Given the description of an element on the screen output the (x, y) to click on. 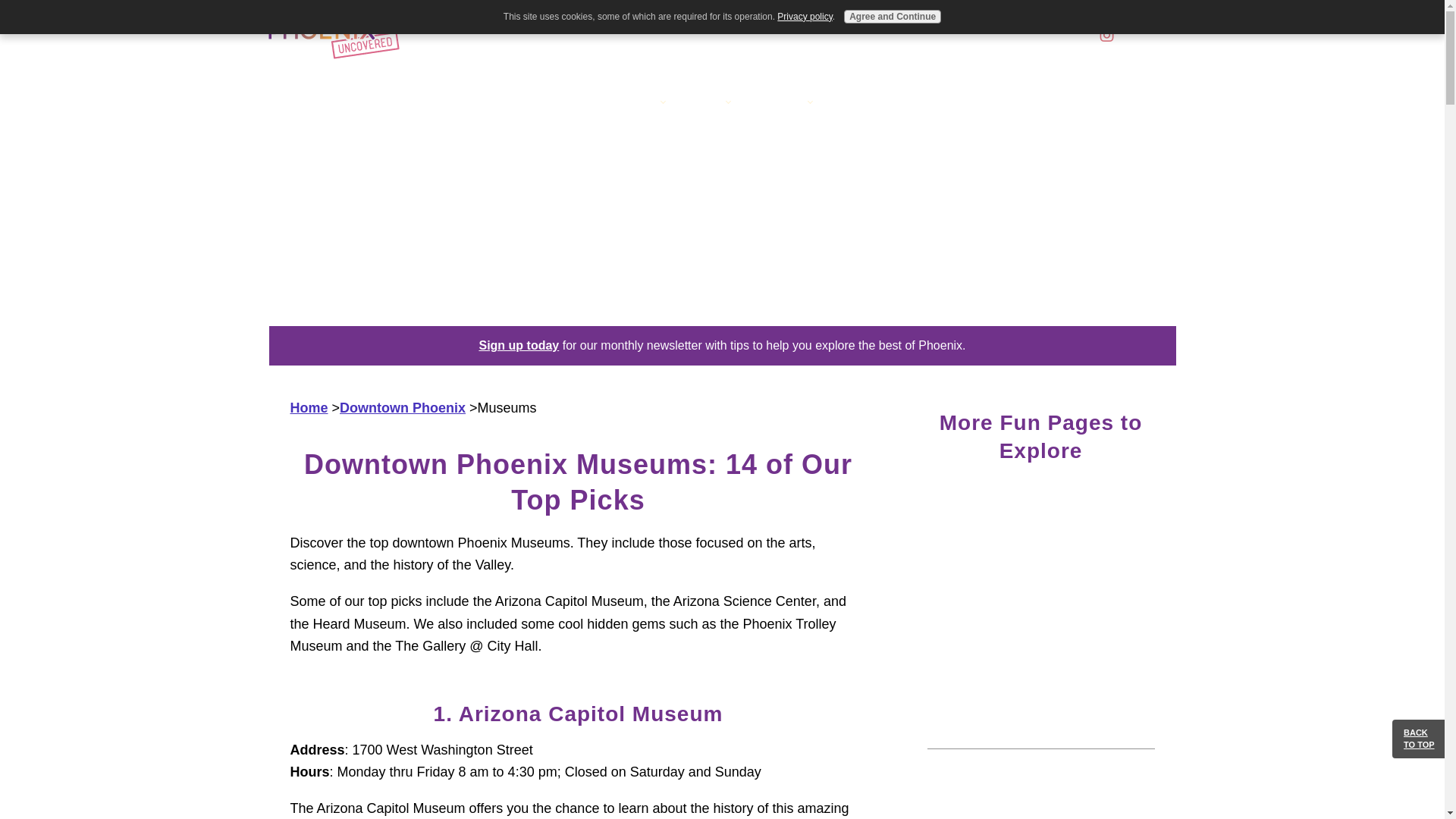
Home (308, 407)
Home (568, 103)
MY WEBSITE (332, 36)
Sign up today (519, 345)
Contact Us (860, 103)
Phoenix Uncovered on YouTube (1165, 35)
Downtown Phoenix (402, 407)
Butterfly Wonderland 300 (1040, 803)
Phoenix Uncovered on Facebook (1077, 35)
Arizona Diamonbacks 300 (1040, 589)
Phoenix Uncovered on Instagram (1106, 35)
Phoenix Uncovered on Pinterest (1134, 35)
